Given the description of an element on the screen output the (x, y) to click on. 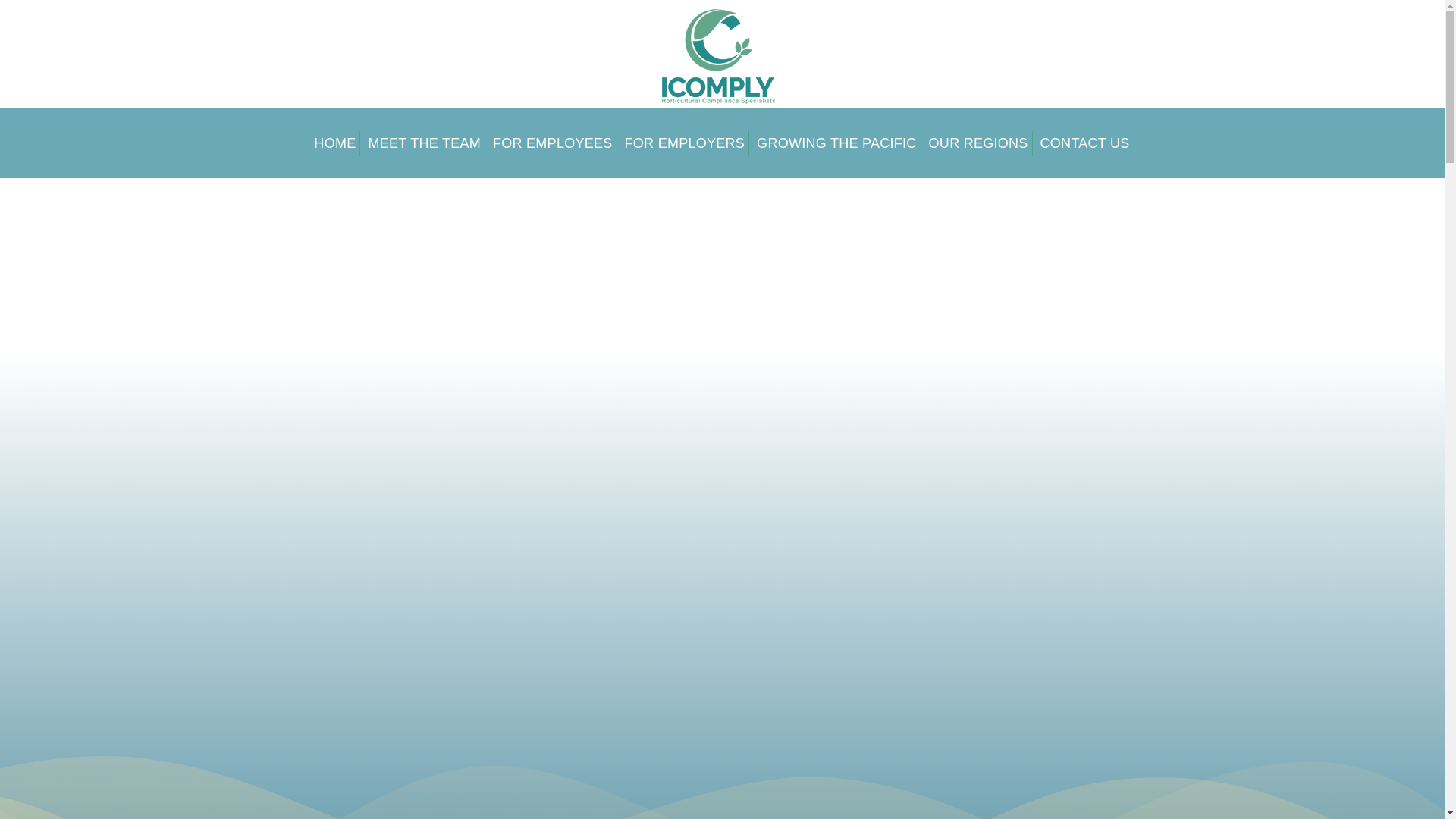
HOME (334, 142)
CONTACT US (1085, 142)
FOR EMPLOYERS (685, 142)
FOR EMPLOYEES (553, 142)
GROWING THE PACIFIC (836, 142)
OUR REGIONS (978, 142)
MEET THE TEAM (424, 142)
